Given the description of an element on the screen output the (x, y) to click on. 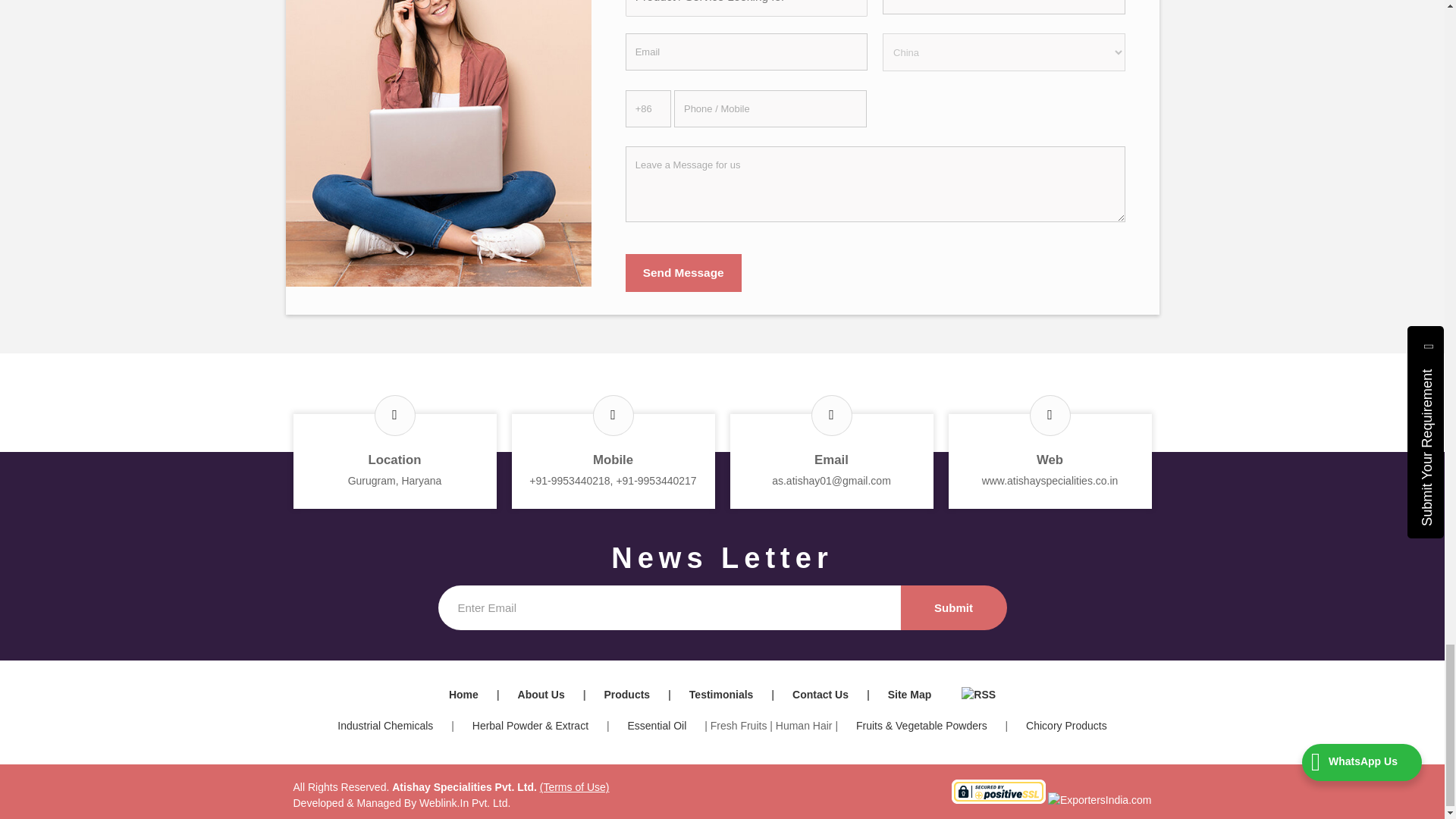
Submit (954, 607)
Enter Email (669, 607)
Send Message (683, 272)
